Given the description of an element on the screen output the (x, y) to click on. 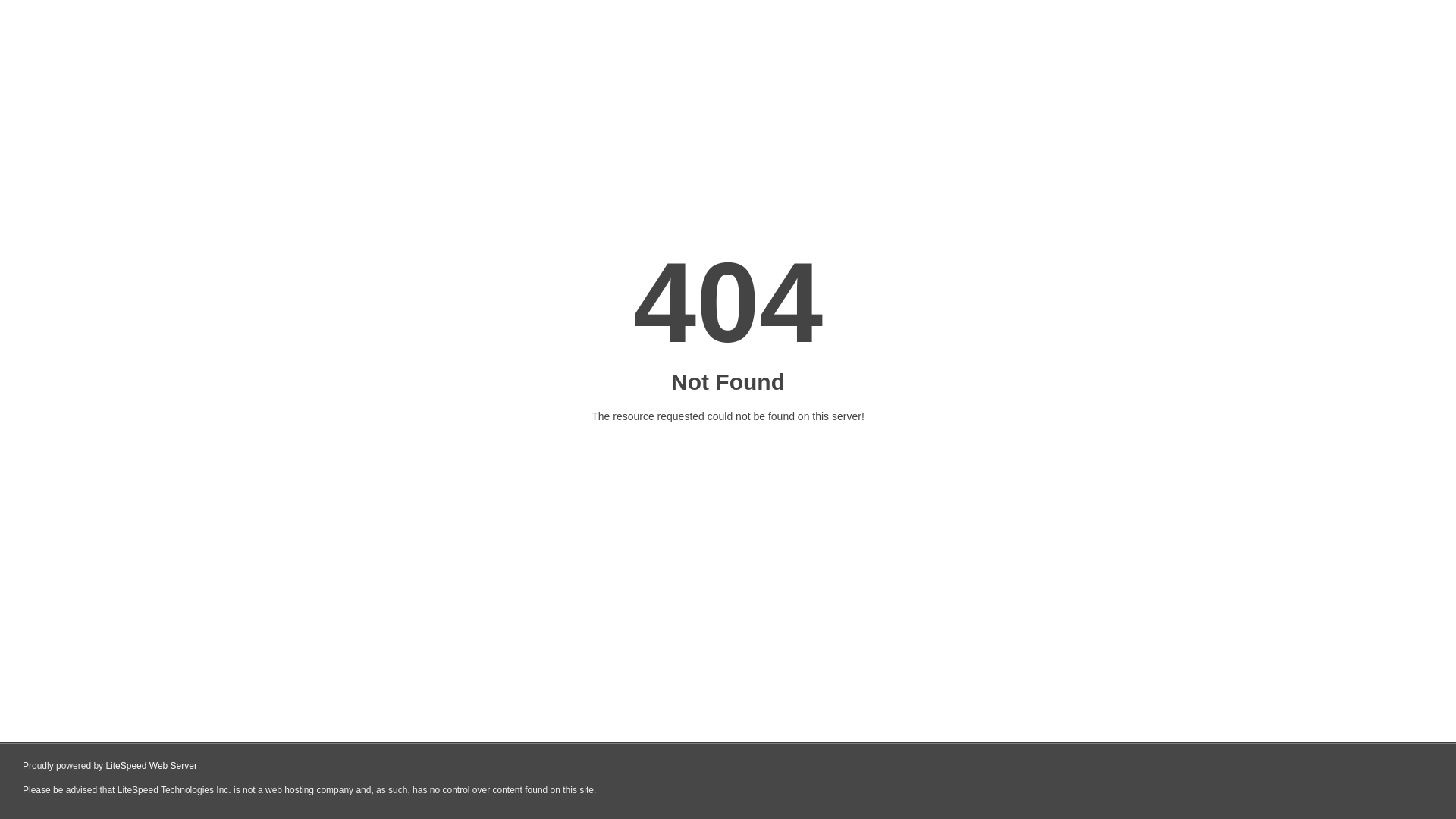
LiteSpeed Web Server Element type: text (151, 765)
